Given the description of an element on the screen output the (x, y) to click on. 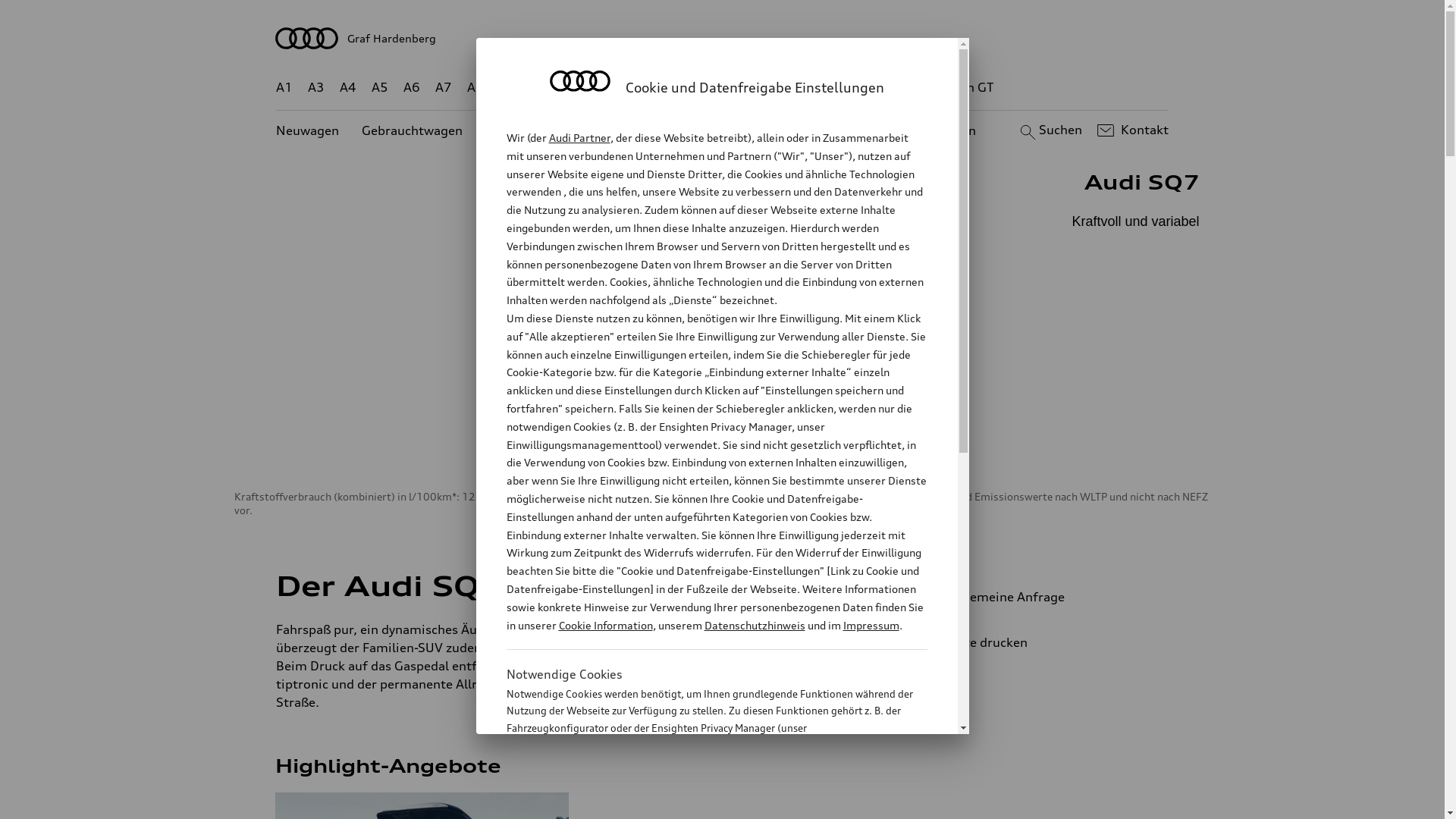
Cookie Information Element type: text (700, 802)
TT Element type: text (814, 87)
Allgemeine Anfrage Element type: text (1038, 596)
Datenschutzhinweis Element type: text (753, 624)
Kontakt Element type: text (1130, 130)
Q4 e-tron Element type: text (592, 87)
Suchen Element type: text (1049, 130)
Audi Partner Element type: text (579, 137)
Graf Hardenberg Element type: text (722, 38)
Kundenservice Element type: text (730, 130)
Seite drucken Element type: text (1044, 642)
A8 Element type: text (475, 87)
Impressum Element type: text (871, 624)
A1 Element type: text (284, 87)
Neuwagen Element type: text (307, 130)
A3 Element type: text (315, 87)
e-tron GT Element type: text (965, 87)
Q3 Element type: text (540, 87)
g-tron Element type: text (903, 87)
A6 Element type: text (411, 87)
Angebote Element type: text (636, 130)
Q5 Element type: text (645, 87)
Cookie Information Element type: text (605, 624)
Gebrauchtwagen Element type: text (411, 130)
Q8 Element type: text (710, 87)
Q8 e-tron Element type: text (763, 87)
Q7 Element type: text (678, 87)
A4 Element type: text (347, 87)
Q2 Element type: text (507, 87)
A7 Element type: text (443, 87)
A5 Element type: text (379, 87)
RS Element type: text (861, 87)
